Given the description of an element on the screen output the (x, y) to click on. 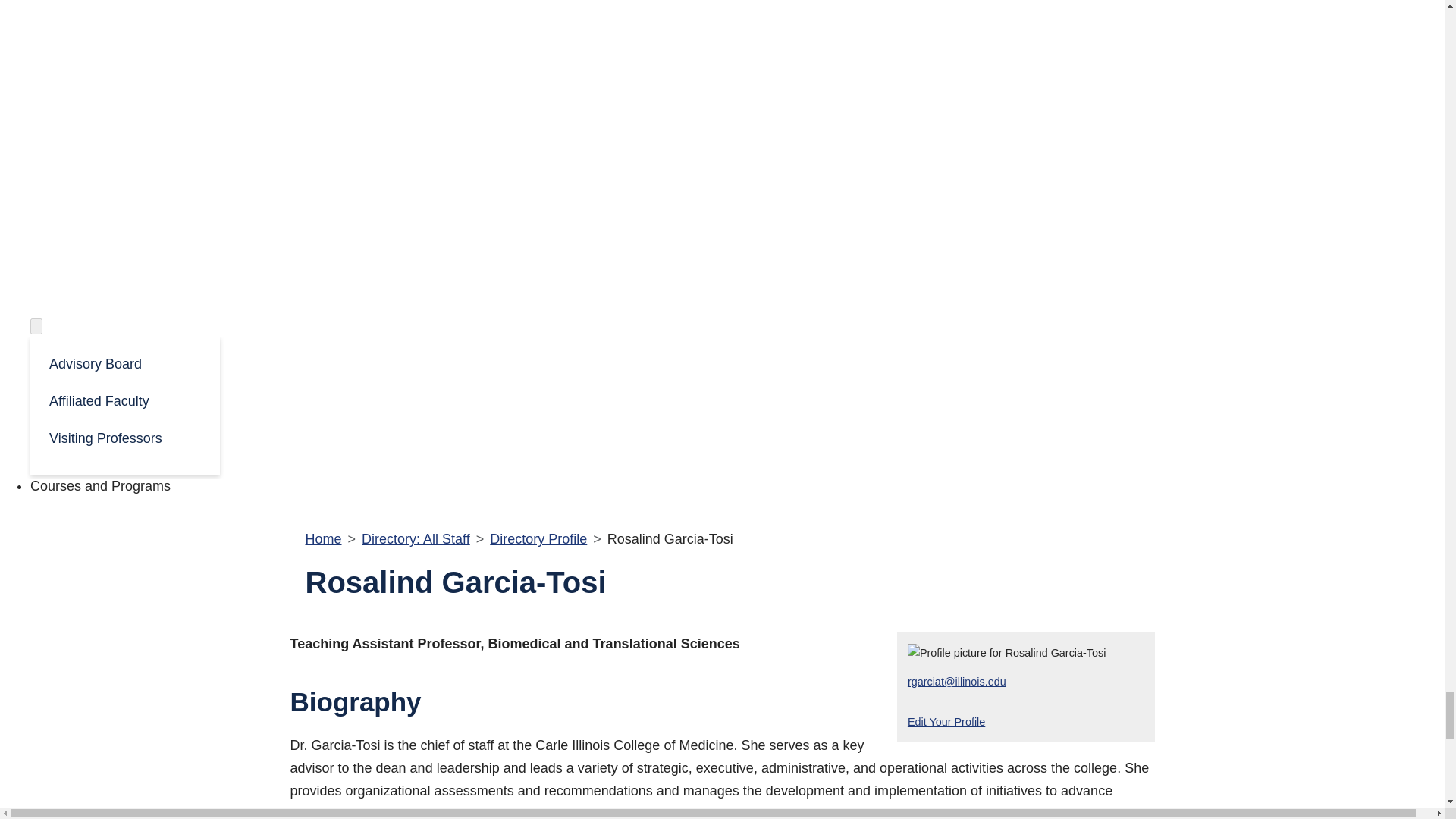
Directory: All Staff (415, 539)
Courses and Programs (100, 485)
Affiliated Faculty (125, 399)
Visiting Professors (125, 436)
Directory Profile (537, 539)
Edit Your Profile (946, 721)
Advisory Board (125, 362)
Home (322, 539)
